Given the description of an element on the screen output the (x, y) to click on. 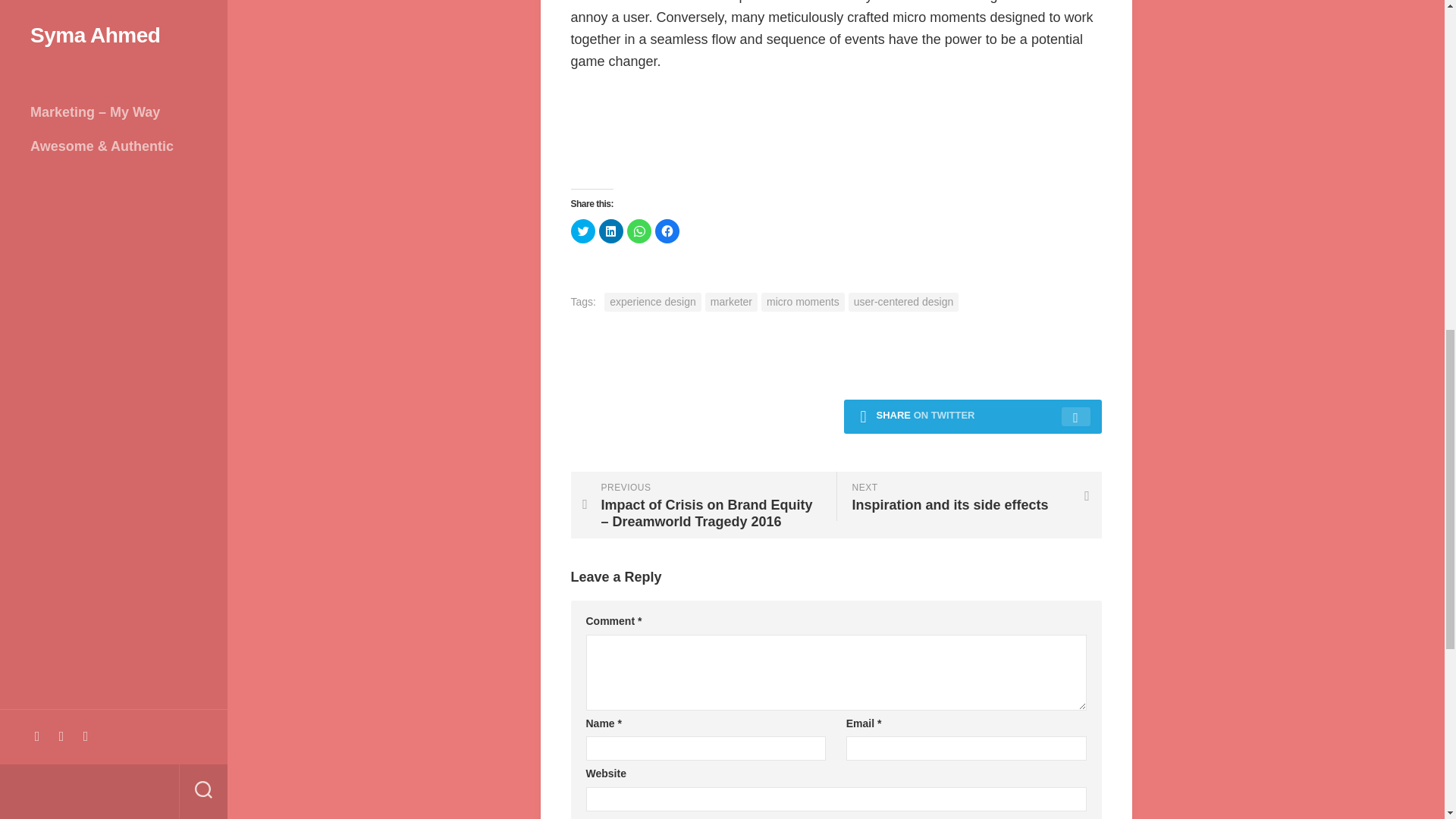
user-centered design (903, 302)
Click to share on Twitter (582, 231)
SHARE ON TWITTER (971, 416)
Click to share on Facebook (667, 231)
micro moments (967, 495)
Click to share on WhatsApp (802, 302)
marketer (638, 231)
experience design (730, 302)
Click to share on LinkedIn (652, 302)
